Given the description of an element on the screen output the (x, y) to click on. 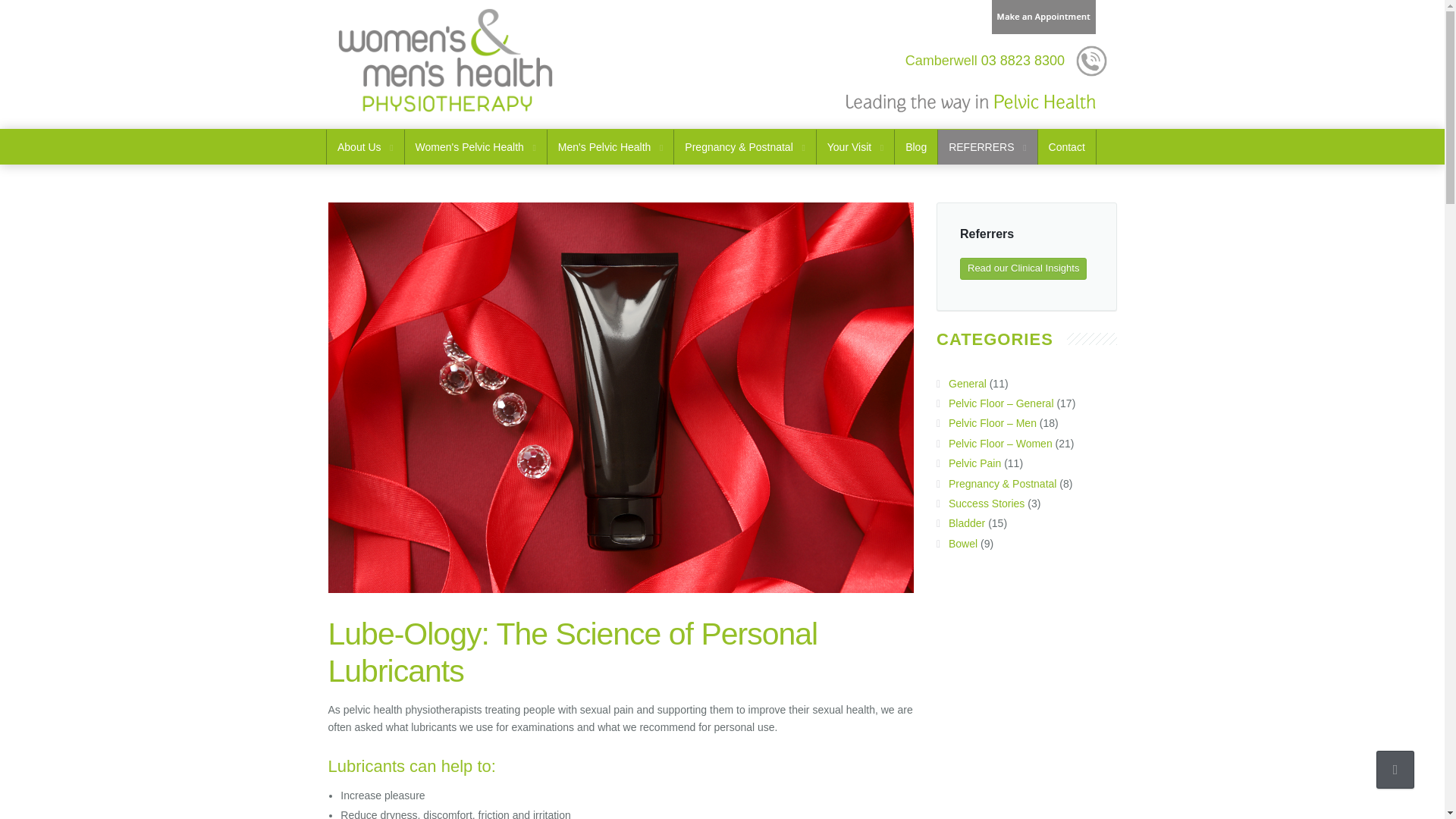
Women's Pelvic Health (475, 146)
Men's Pelvic Health (610, 146)
Camberwell 03 8823 8300 (984, 60)
About Us (365, 146)
Your Visit (854, 146)
